Given the description of an element on the screen output the (x, y) to click on. 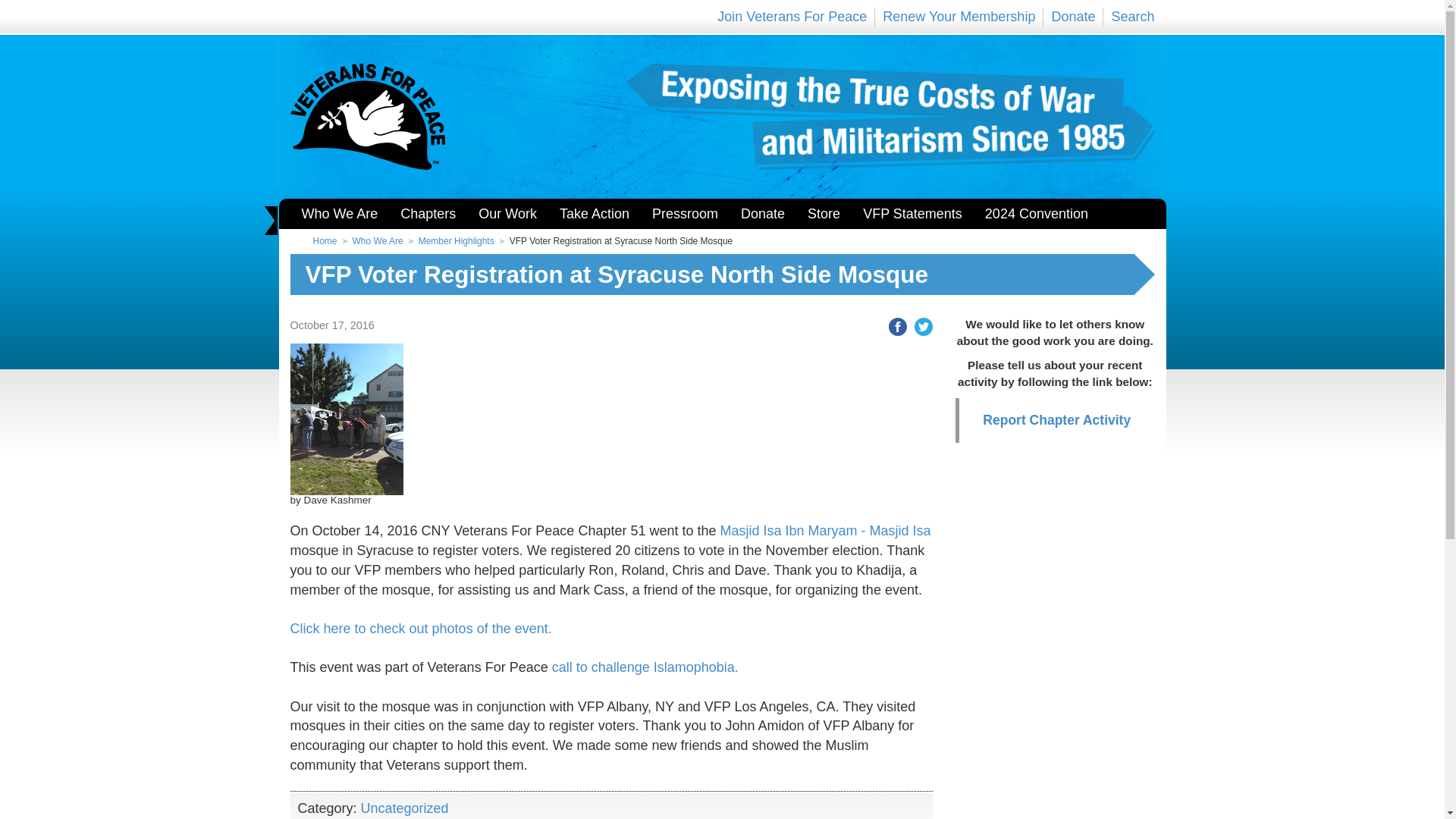
Who We Are (338, 214)
Share on Facebook (893, 325)
Search (1132, 16)
Pressroom (684, 214)
Search (1132, 16)
Store (823, 214)
Renew Your Membership (958, 16)
Join Veterans For Peace or Renew Your Membership! (958, 16)
Our Work (507, 214)
VFP Statements (912, 214)
